Given the description of an element on the screen output the (x, y) to click on. 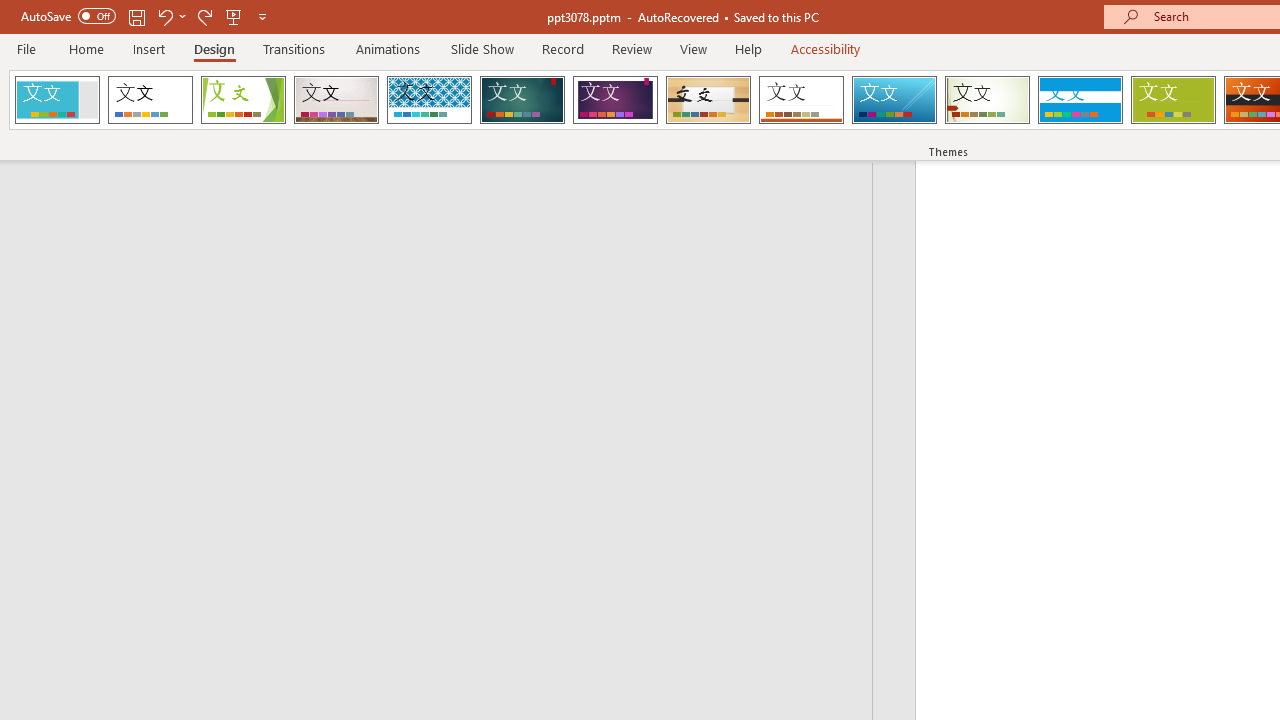
Ion (522, 100)
Organic (708, 100)
